Given the description of an element on the screen output the (x, y) to click on. 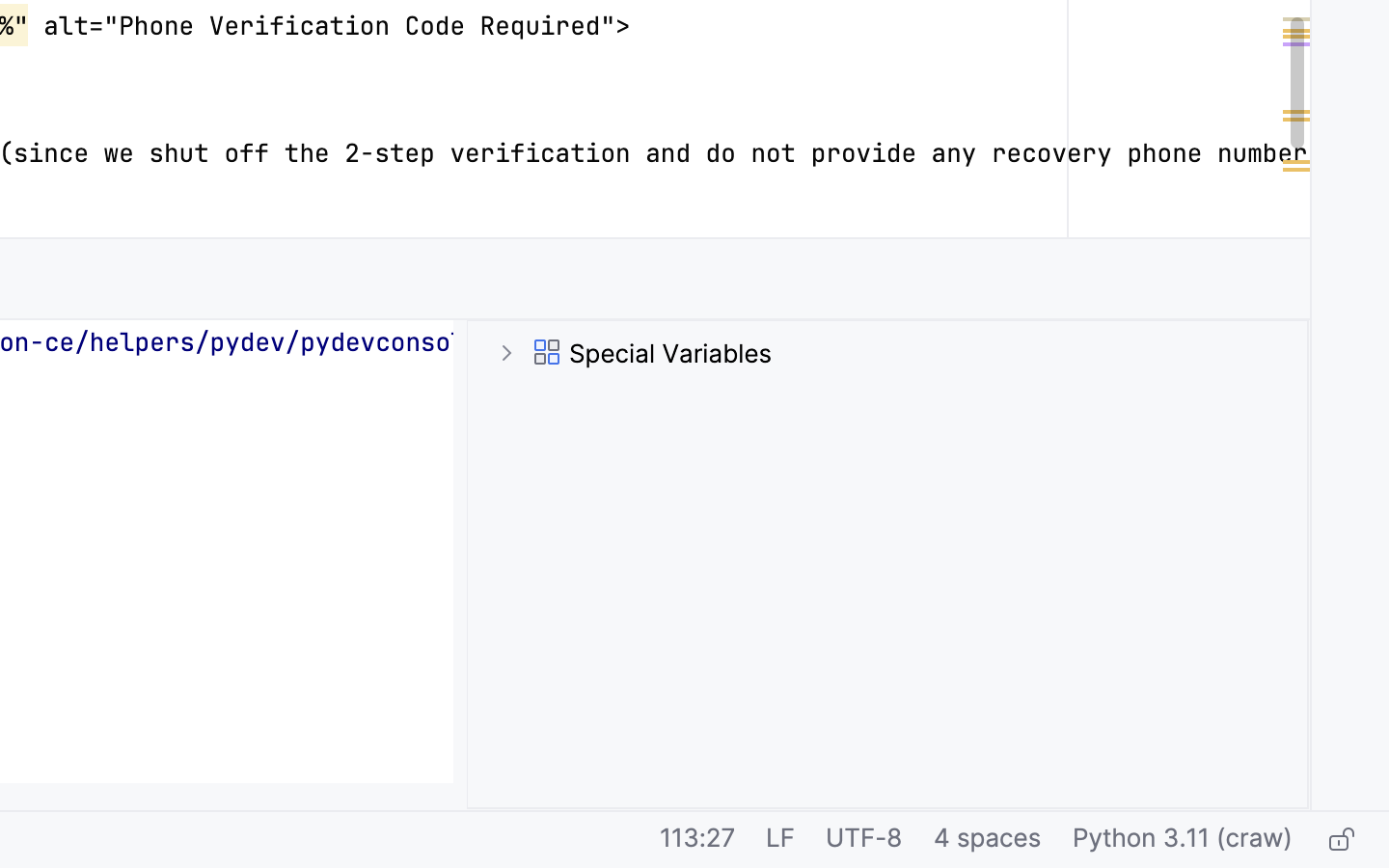
Make file read-only Element type: AXStaticText (1338, 840)
Python 3.11 (craw) Element type: AXStaticText (1182, 840)
4 spaces Element type: AXStaticText (987, 839)
113:27 Element type: AXStaticText (697, 840)
